Given the description of an element on the screen output the (x, y) to click on. 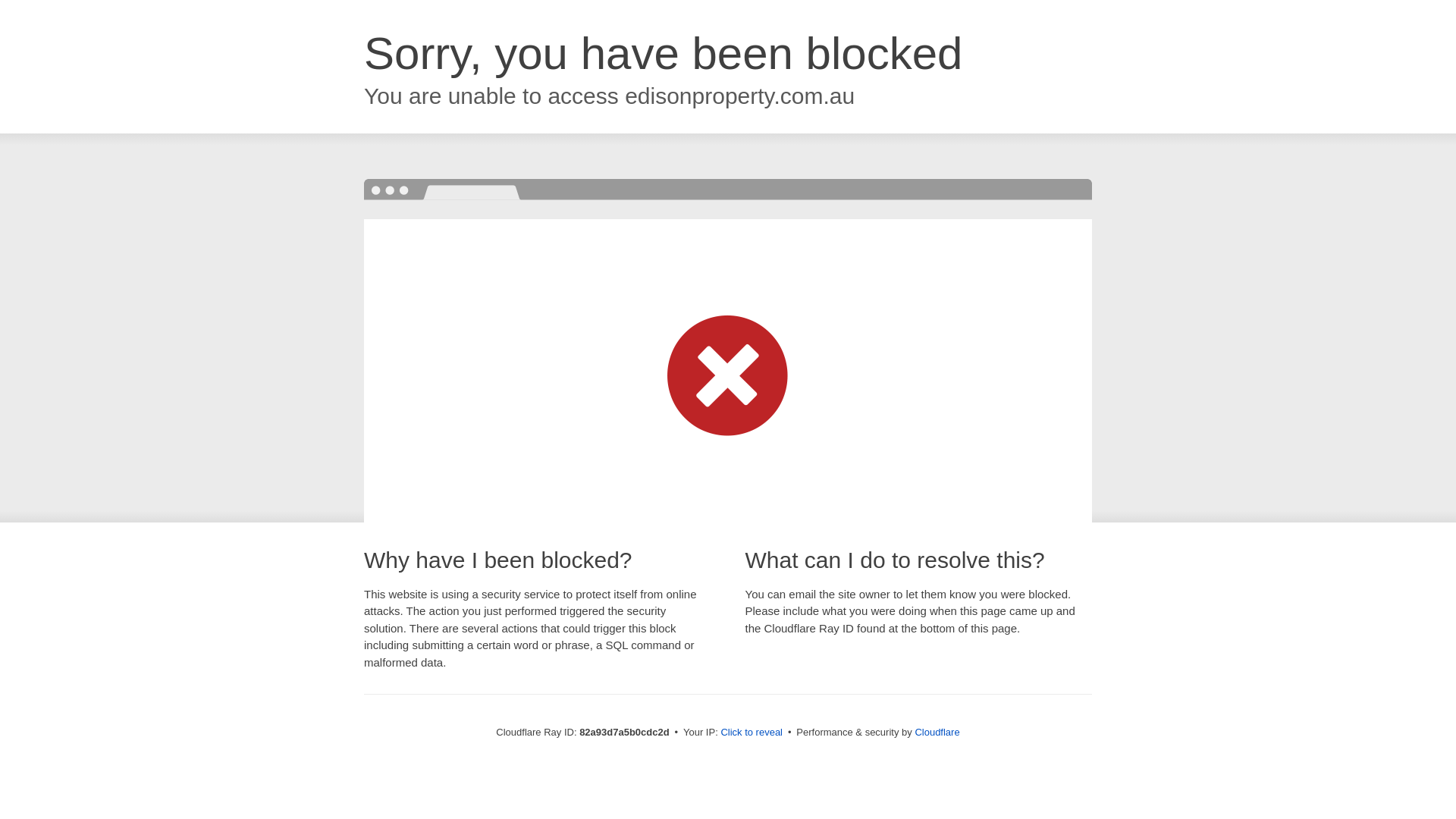
Click to reveal Element type: text (751, 732)
Cloudflare Element type: text (936, 731)
